Given the description of an element on the screen output the (x, y) to click on. 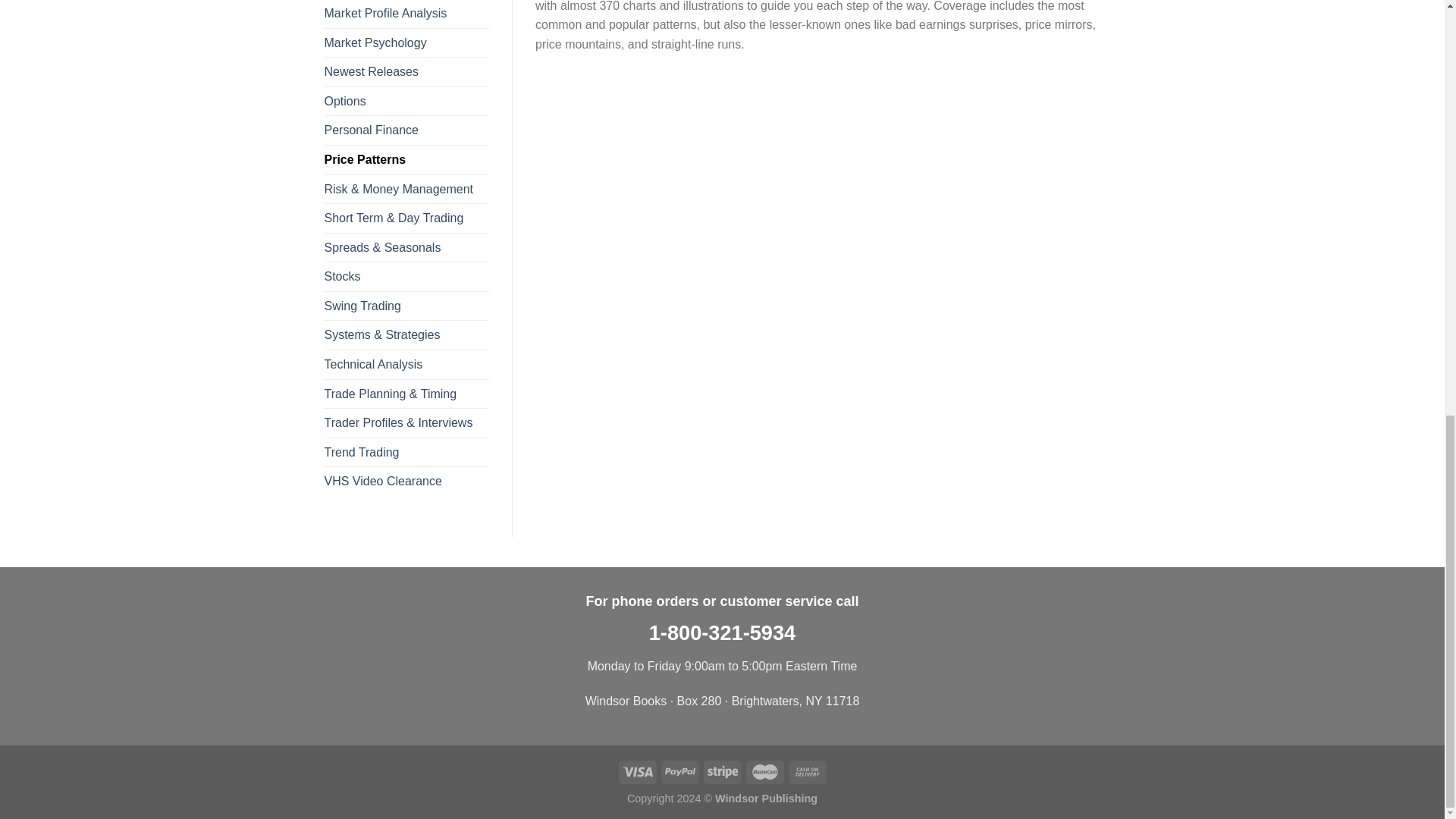
Market Psychology (406, 42)
Newest Releases (406, 71)
Market Profile Analysis (406, 13)
Price Patterns (406, 159)
Options (406, 101)
Personal Finance (406, 130)
